Given the description of an element on the screen output the (x, y) to click on. 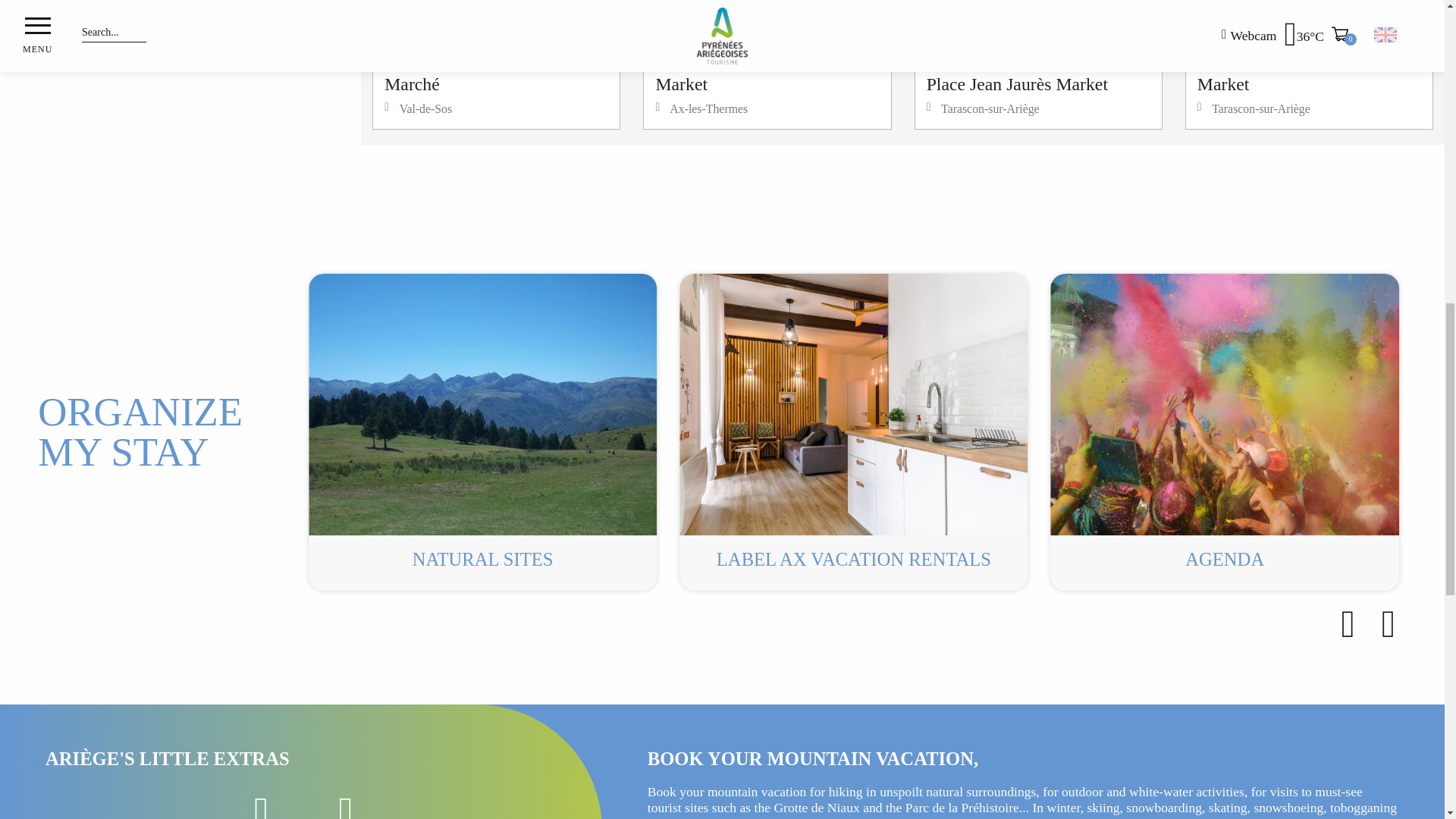
NATURAL SITES (482, 431)
Agenda (767, 64)
LABEL AX VACATION RENTALS (345, 801)
Webcams (853, 431)
Market (260, 801)
Market (766, 30)
AGENDA (1309, 30)
